Given the description of an element on the screen output the (x, y) to click on. 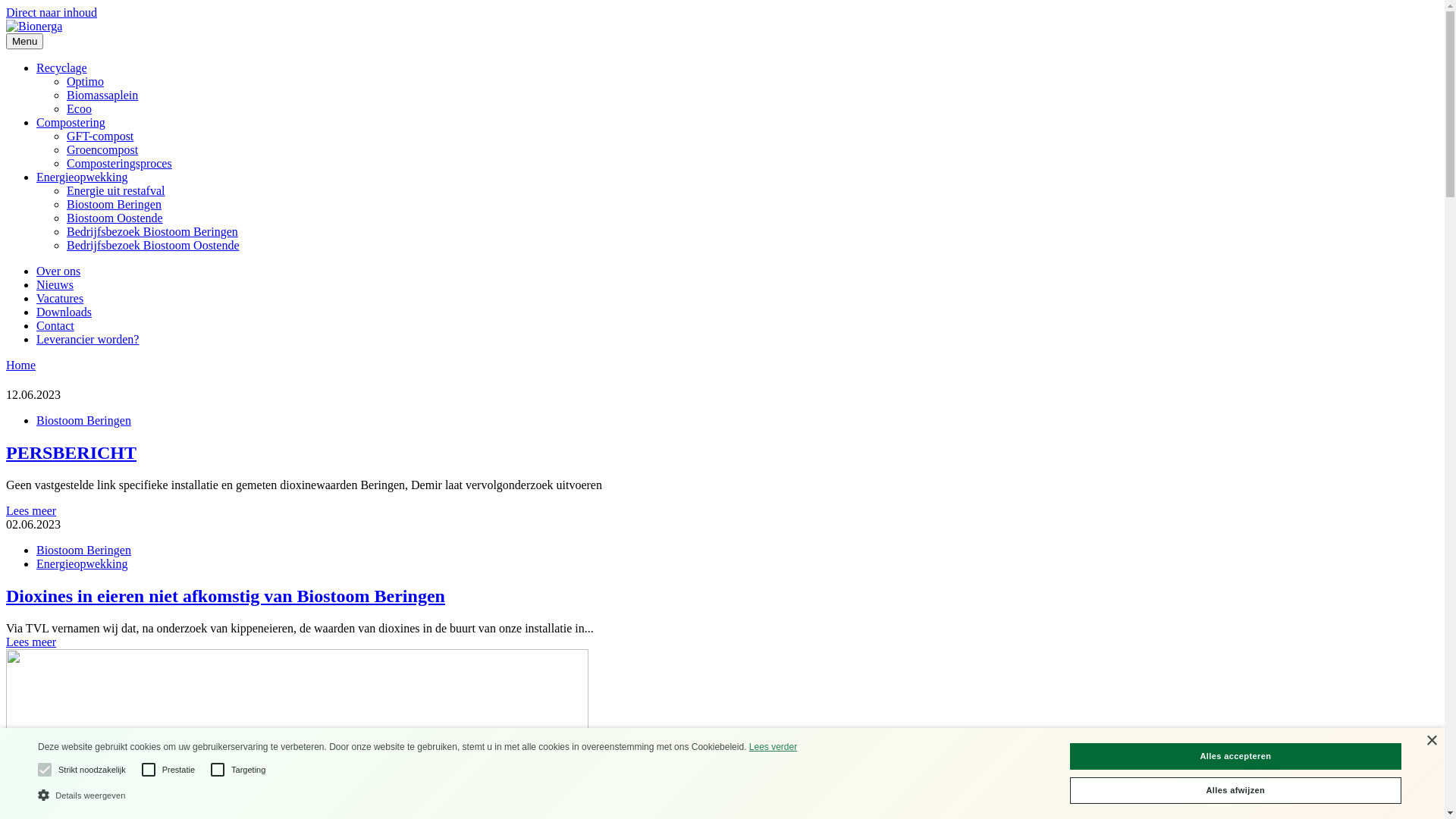
Downloads Element type: text (63, 311)
Biostoom Beringen Element type: text (83, 420)
Menu Element type: text (24, 41)
Energie uit restafval Element type: text (115, 190)
Contact Element type: text (55, 325)
PERSBERICHT Element type: text (722, 452)
Nieuws Element type: text (54, 284)
Lees verder Element type: text (773, 746)
Biomassaplein Element type: text (102, 94)
Lees meer Element type: text (31, 641)
Composteringsproces Element type: text (119, 162)
Ecoo Element type: text (78, 108)
Biostoom Oostende Element type: text (114, 217)
Biostoom Beringen Element type: text (113, 203)
Groencompost Element type: text (102, 149)
Bedrijfsbezoek Biostoom Oostende Element type: text (152, 244)
Lees meer Element type: text (31, 510)
Direct naar inhoud Element type: text (51, 12)
Vacatures Element type: text (59, 297)
Dioxines in eieren niet afkomstig van Biostoom Beringen Element type: text (722, 596)
Over ons Element type: text (58, 270)
Biostoom Beringen Element type: text (83, 549)
Energieopwekking Element type: text (82, 176)
Optimo Element type: text (84, 81)
Compostering Element type: text (70, 122)
GFT-compost Element type: text (99, 135)
Home Element type: text (20, 364)
Energieopwekking Element type: text (82, 563)
Bedrijfsbezoek Biostoom Beringen Element type: text (152, 231)
Recyclage Element type: text (61, 67)
Leverancier worden? Element type: text (87, 338)
